Given the description of an element on the screen output the (x, y) to click on. 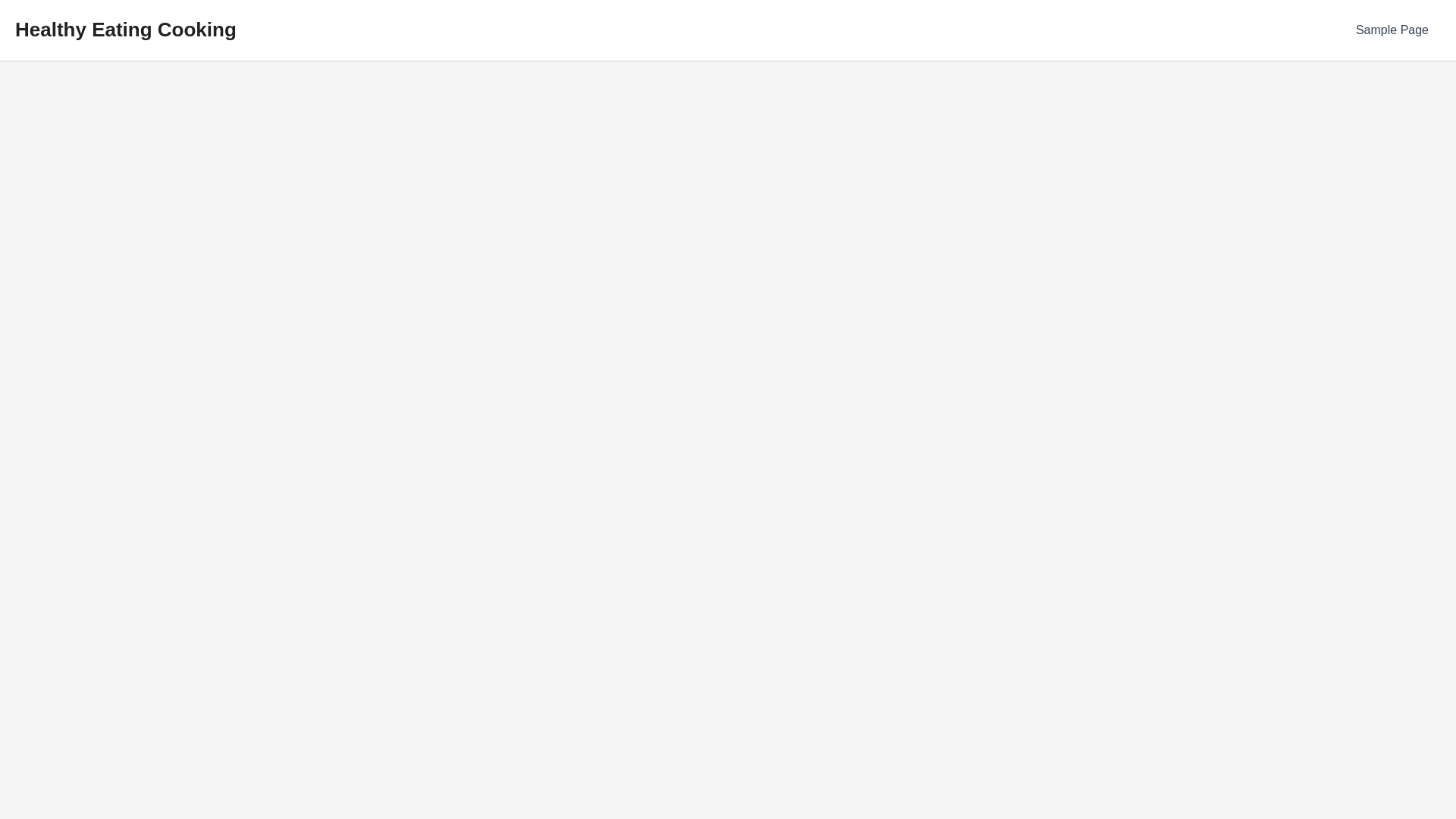
Healthy Eating Cooking (124, 29)
Sample Page (1392, 30)
